Given the description of an element on the screen output the (x, y) to click on. 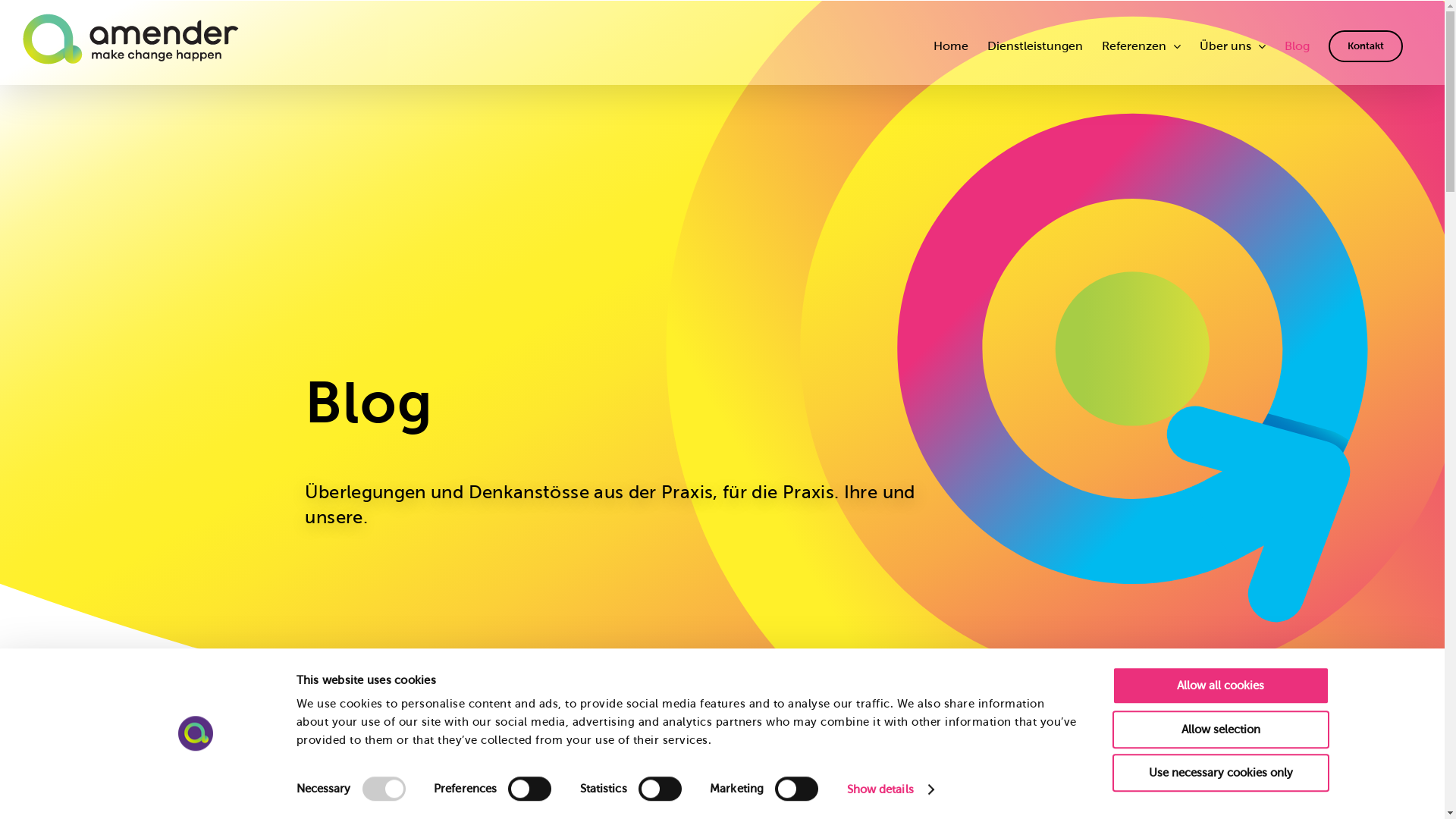
Use necessary cookies only Element type: text (1219, 772)
Referenzen Element type: text (1140, 46)
Home Element type: text (950, 46)
Blog Element type: text (1296, 46)
Show details Element type: text (890, 789)
Allow all cookies Element type: text (1219, 685)
Dienstleistungen Element type: text (1034, 46)
Allow selection Element type: text (1219, 729)
Kontakt Element type: text (1365, 46)
